Given the description of an element on the screen output the (x, y) to click on. 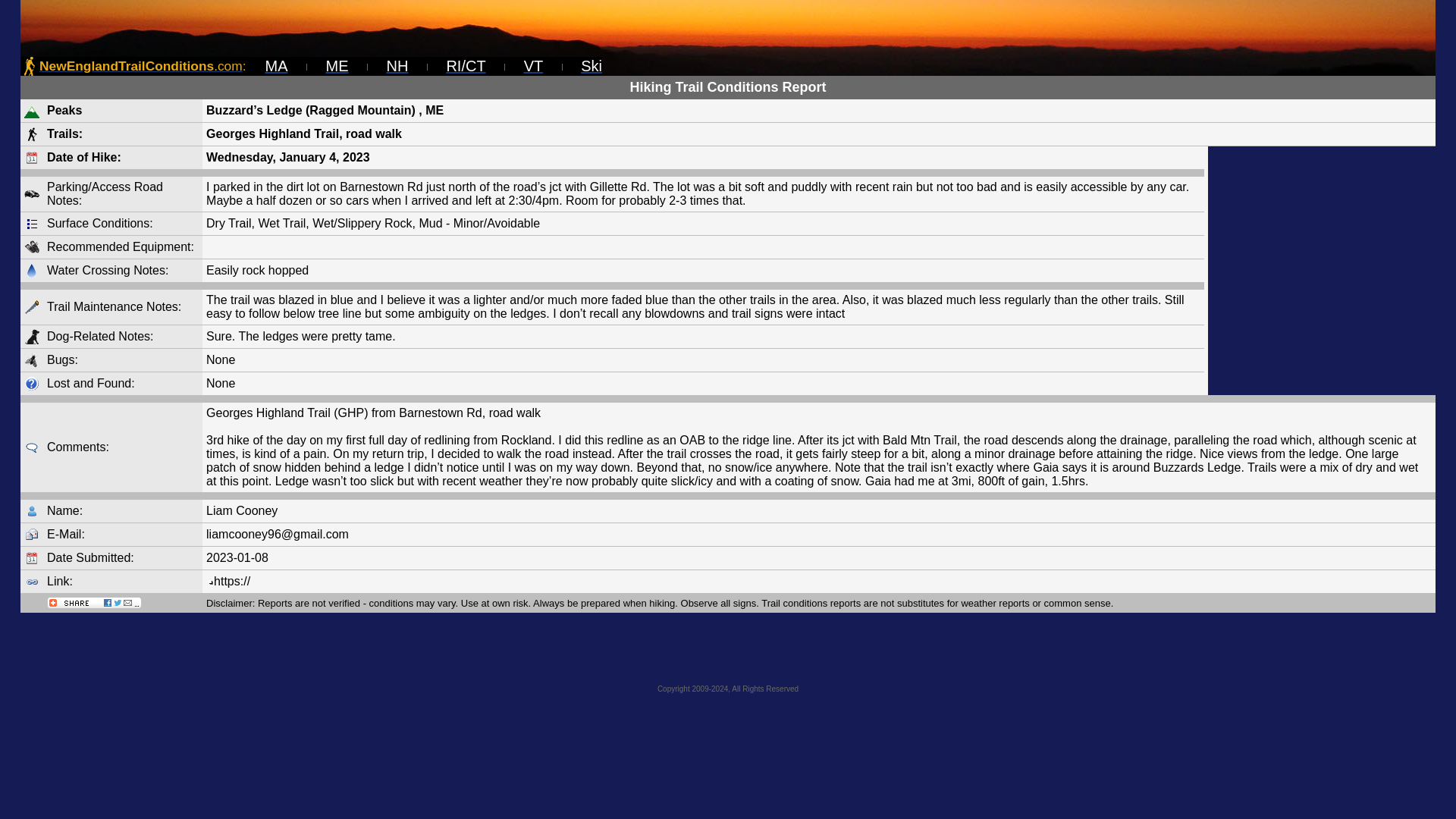
Ski (591, 65)
MA (276, 65)
NewEnglandTrailConditions.com (141, 65)
Advertisement (727, 650)
NH (398, 65)
Advertisement (1321, 270)
VT (533, 65)
ME (337, 65)
